Given the description of an element on the screen output the (x, y) to click on. 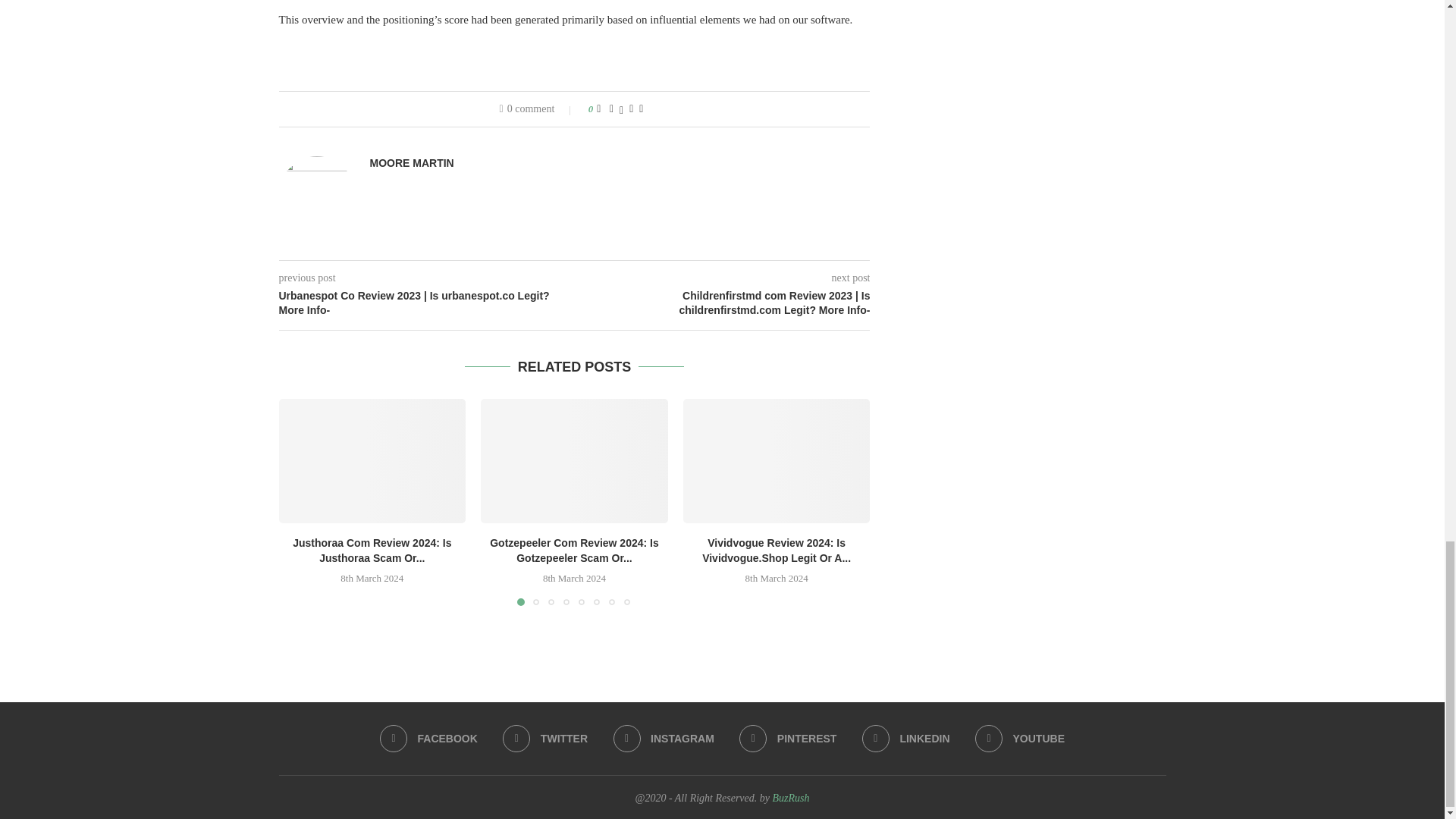
MOORE MARTIN (411, 163)
